Given the description of an element on the screen output the (x, y) to click on. 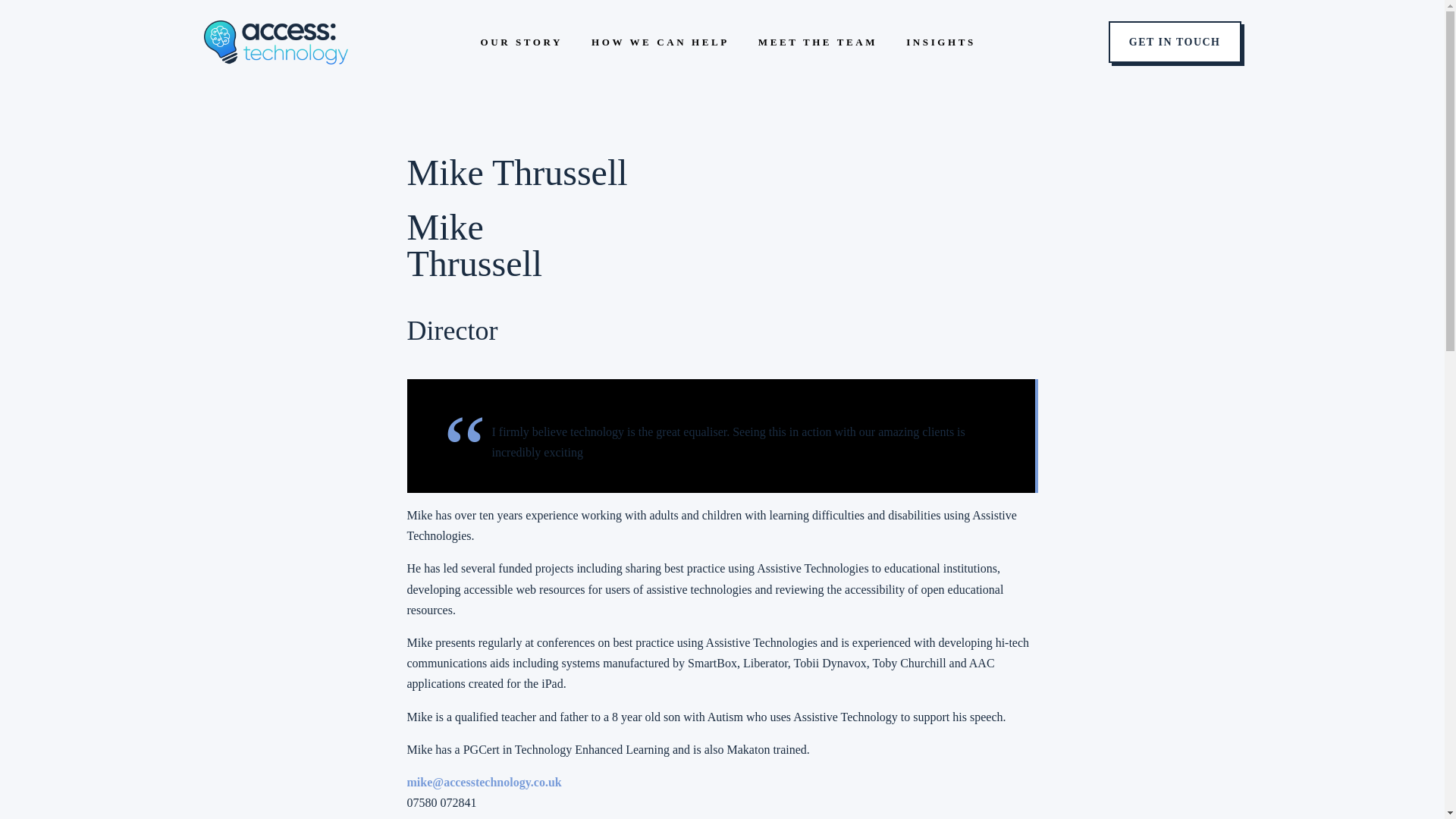
OUR STORY (521, 41)
HOW WE CAN HELP (660, 41)
INSIGHTS (940, 41)
MEET THE TEAM (817, 41)
GET IN TOUCH (1174, 42)
